Given the description of an element on the screen output the (x, y) to click on. 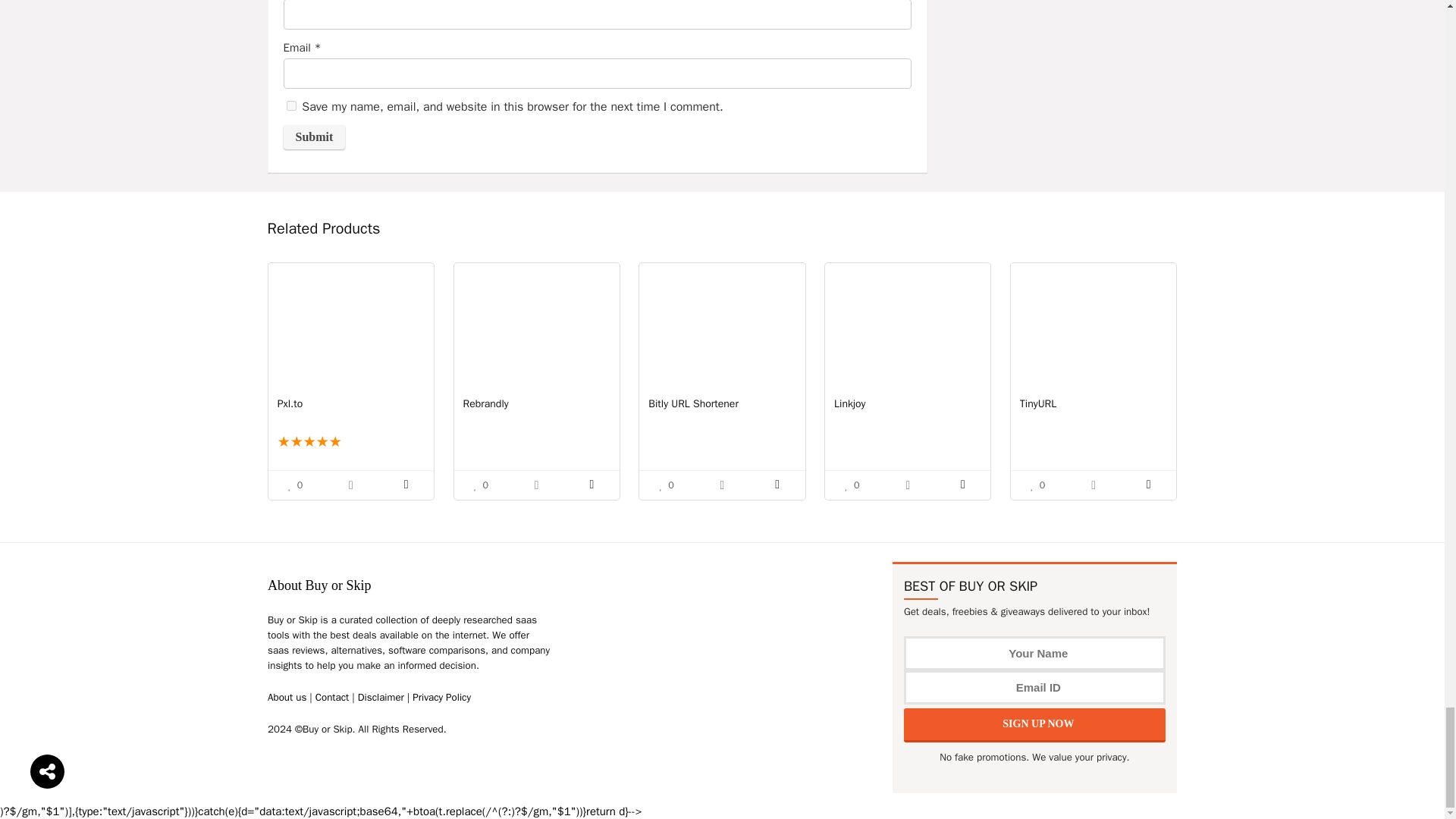
Sign Up Now (1035, 725)
Submit (314, 137)
yes (291, 105)
